Given the description of an element on the screen output the (x, y) to click on. 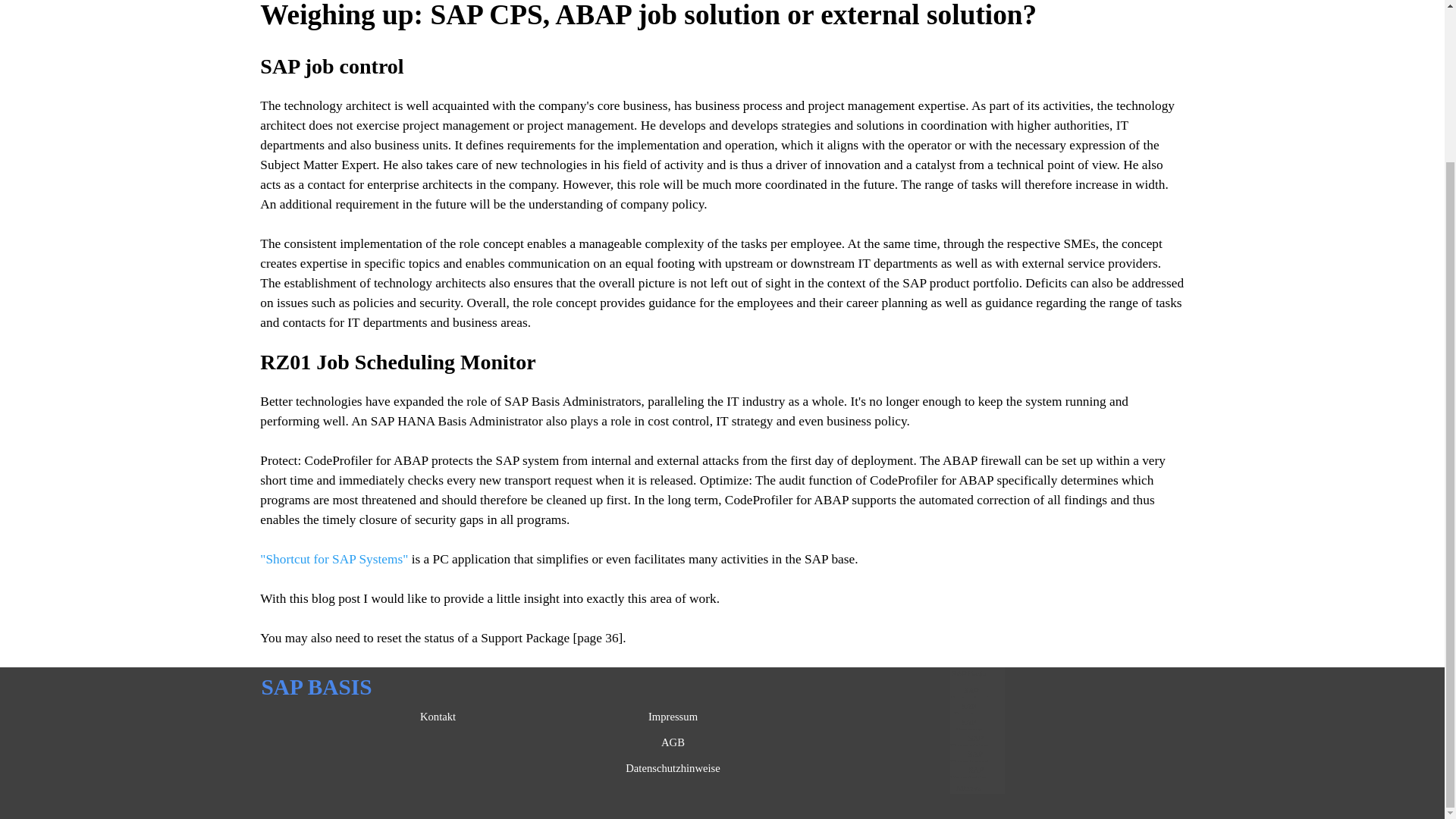
Impressum (672, 716)
Datenschutzhinweise (672, 767)
AGB (672, 742)
Kontakt (438, 716)
Mirrors (968, 787)
"Shortcut for SAP Systems" (333, 559)
